Given the description of an element on the screen output the (x, y) to click on. 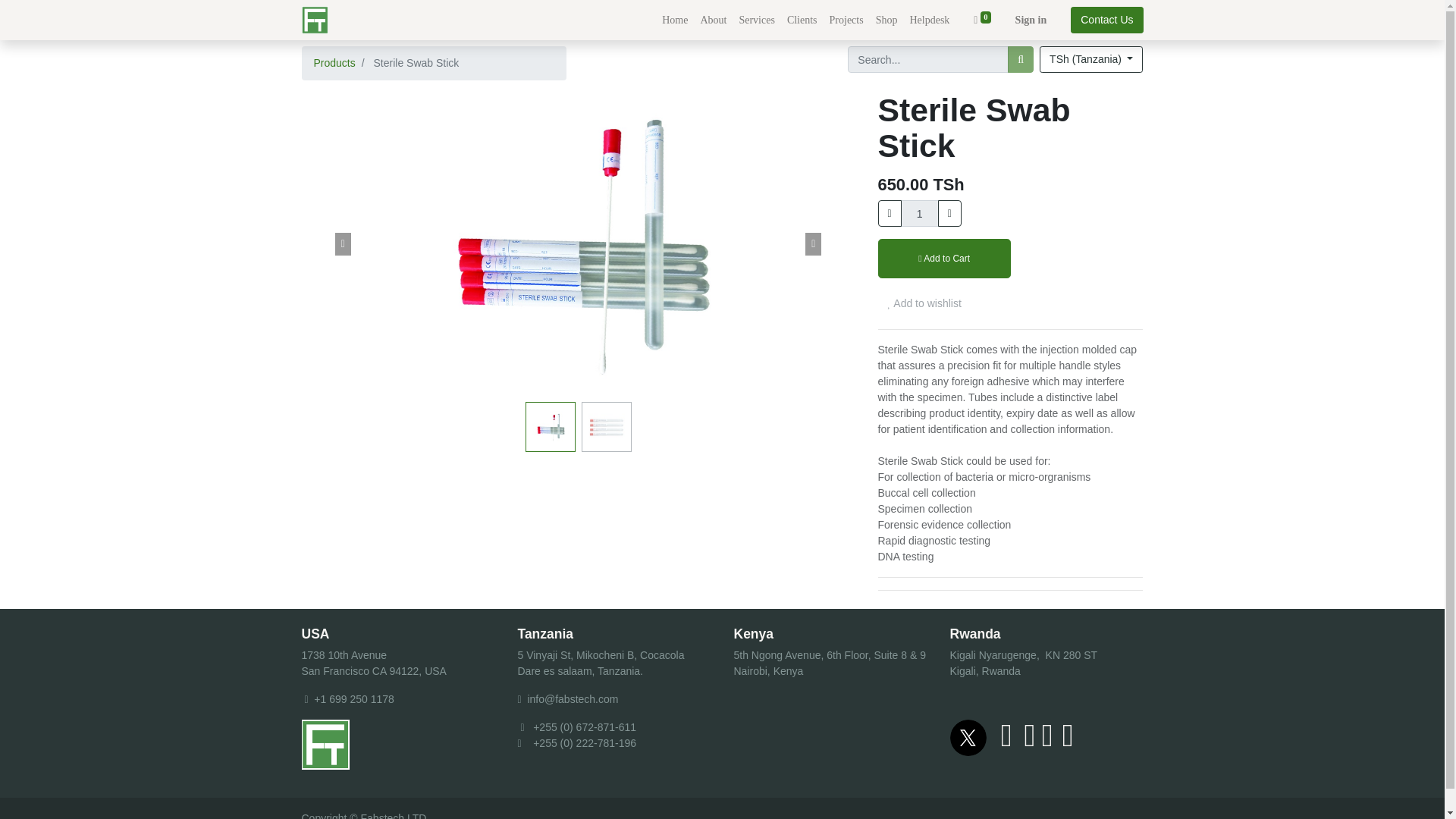
Helpdesk (928, 19)
About (713, 19)
Shop (886, 19)
Clients (802, 19)
1 (920, 212)
Services (756, 19)
Products (334, 62)
0 (981, 19)
Contact Us (1106, 19)
Fabstech (315, 19)
